Given the description of an element on the screen output the (x, y) to click on. 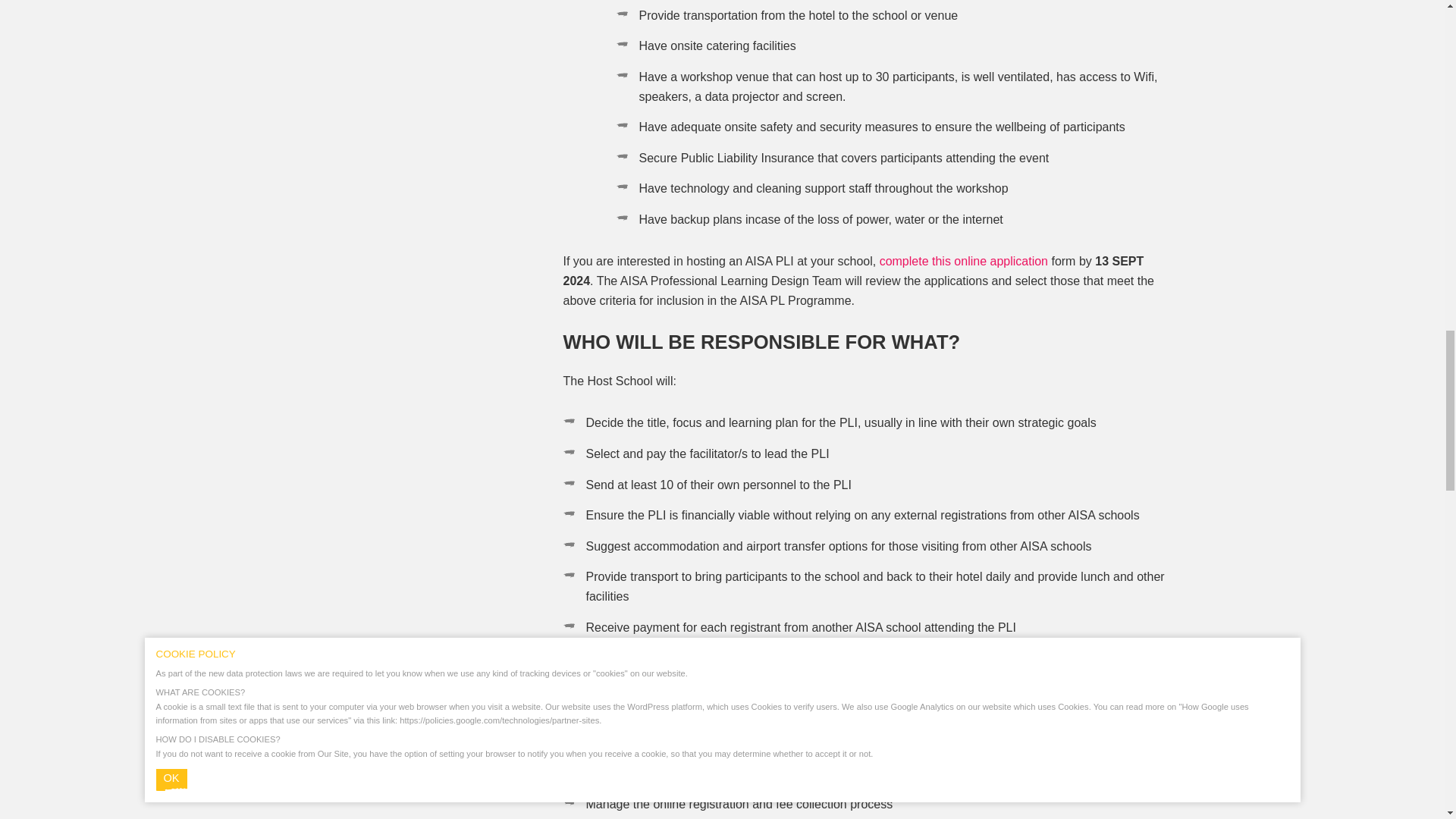
complete this online application (963, 260)
